Given the description of an element on the screen output the (x, y) to click on. 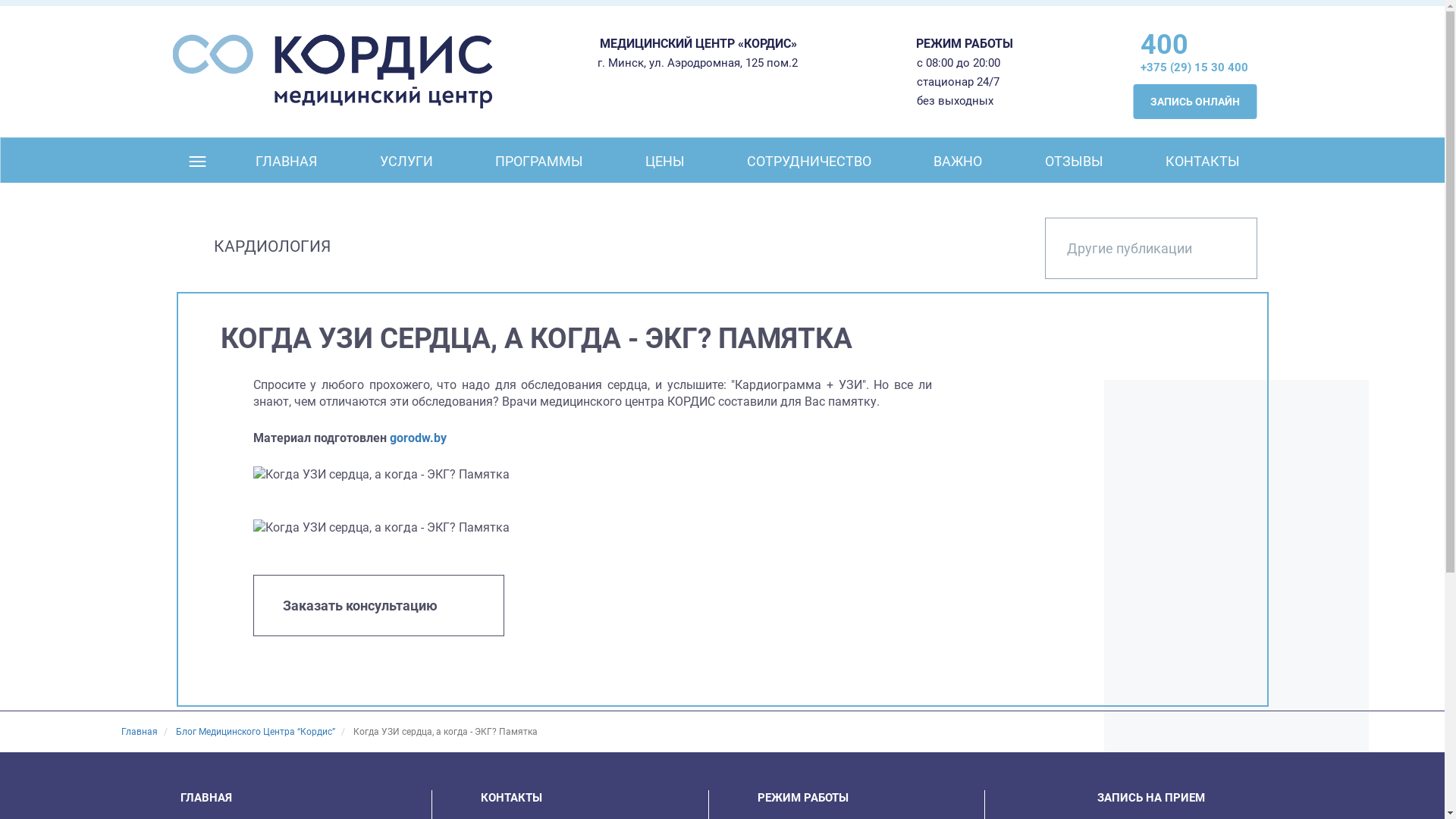
gorodw.by Element type: text (417, 437)
      Element type: text (196, 161)
+375 (29) 15 30 400 Element type: text (1194, 67)
400 Element type: text (1192, 44)
